Given the description of an element on the screen output the (x, y) to click on. 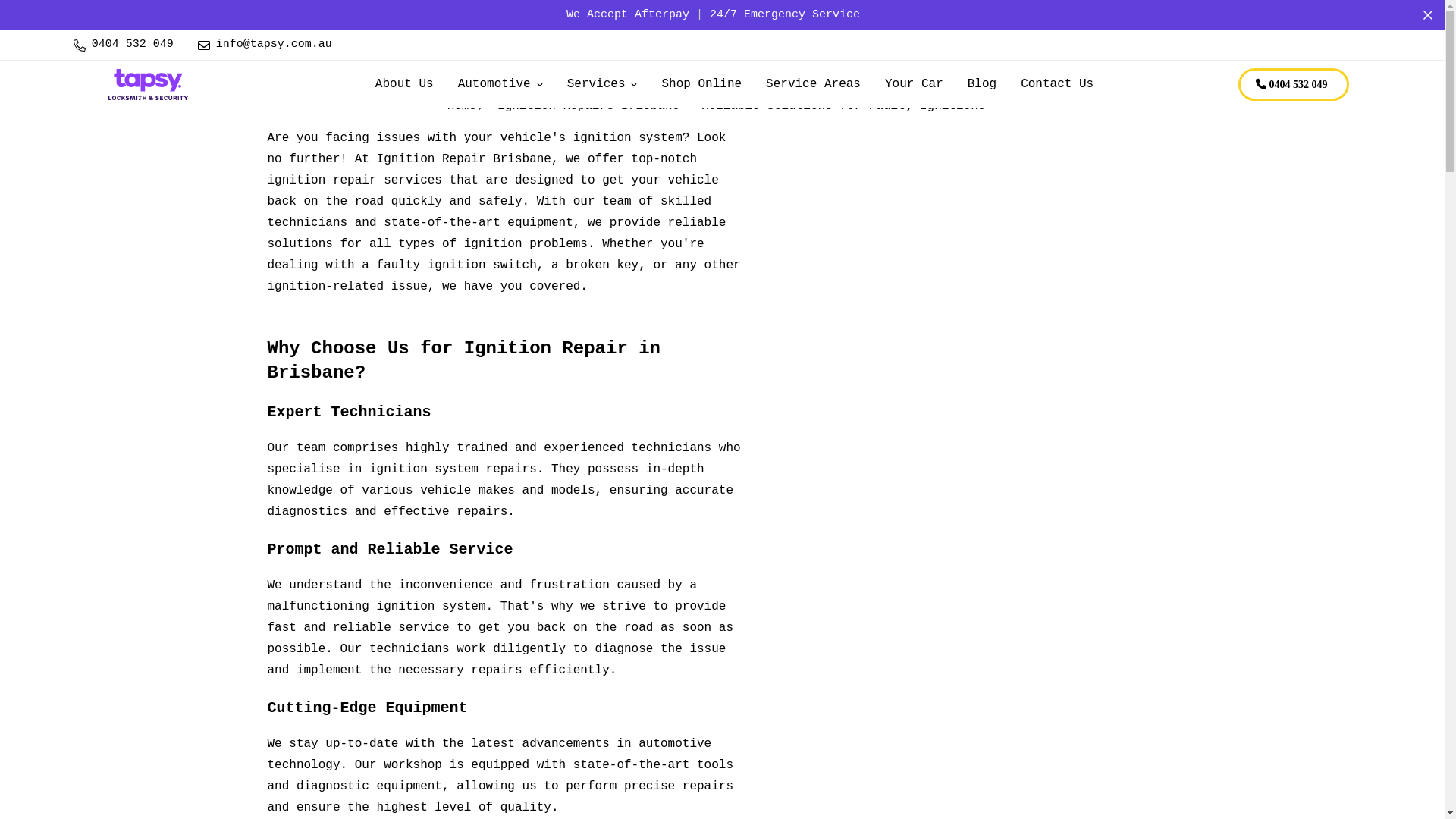
Services Element type: text (602, 84)
0404 532 049 Element type: text (1293, 84)
Service Areas Element type: text (812, 84)
Your Car Element type: text (913, 84)
Blog Element type: text (981, 84)
info@tapsy.com.au Element type: text (264, 44)
0404 532 049 Element type: text (123, 44)
About Us Element type: text (404, 84)
Home Element type: text (461, 106)
Shop Online Element type: text (701, 84)
Contact Us Element type: text (1056, 84)
Automotive Element type: text (500, 84)
Emergency Locksmith Brisbane Element type: hover (147, 84)
